Given the description of an element on the screen output the (x, y) to click on. 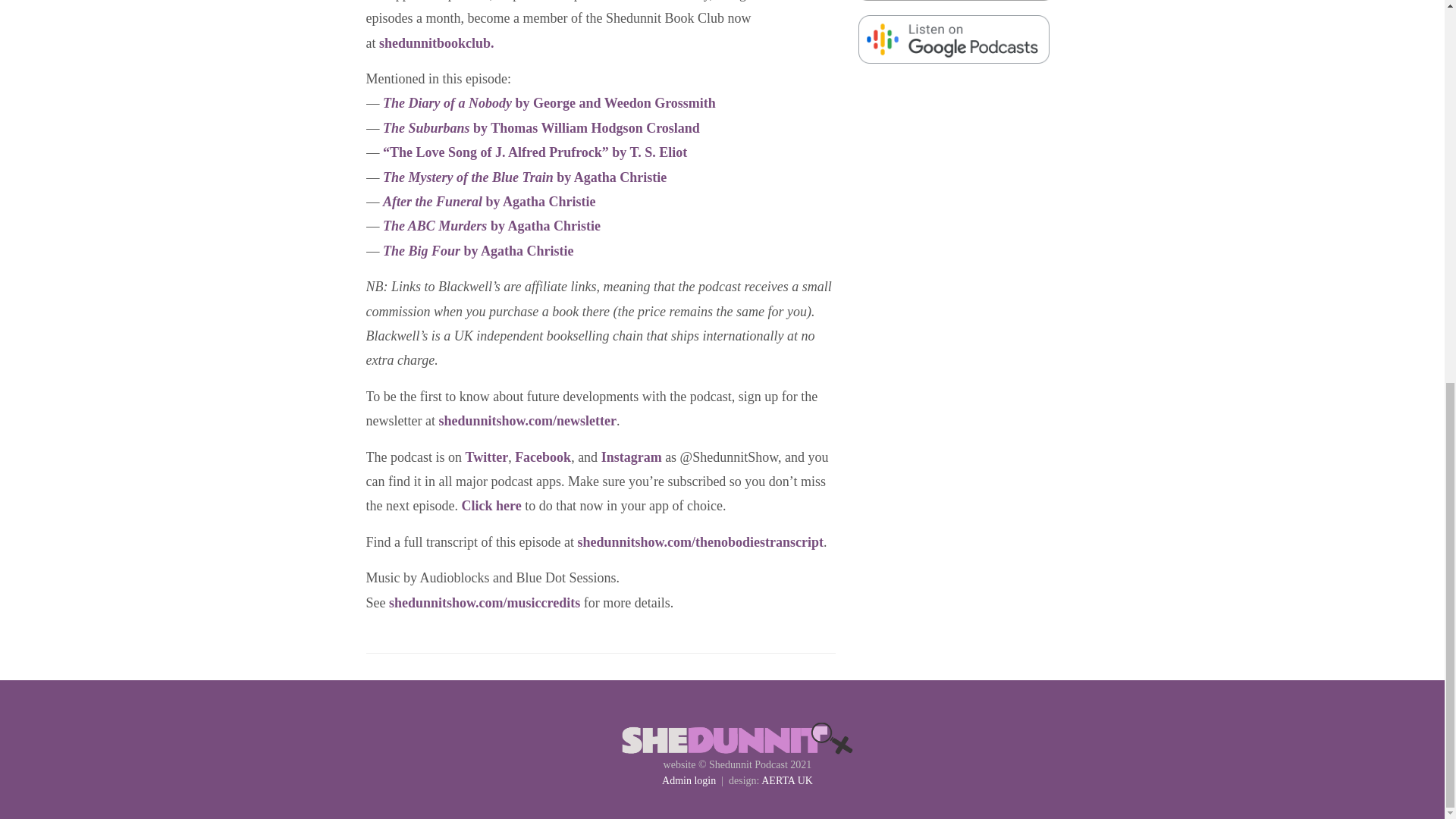
Click here (491, 505)
shedunnitbookclub. (436, 43)
The Diary of a Nobody by George and Weedon Grossmith (549, 102)
The Suburbans by Thomas William Hodgson Crosland (541, 127)
The Mystery of the Blue Train by Agatha Christie (524, 177)
Admin login (689, 780)
The Big Four by Agatha Christie (477, 250)
AERTA UK (786, 780)
Twitter (486, 457)
After the Funeral by Agatha Christie (488, 201)
The ABC Murders by Agatha Christie (490, 225)
Facebook (542, 457)
Instagram (631, 457)
